Given the description of an element on the screen output the (x, y) to click on. 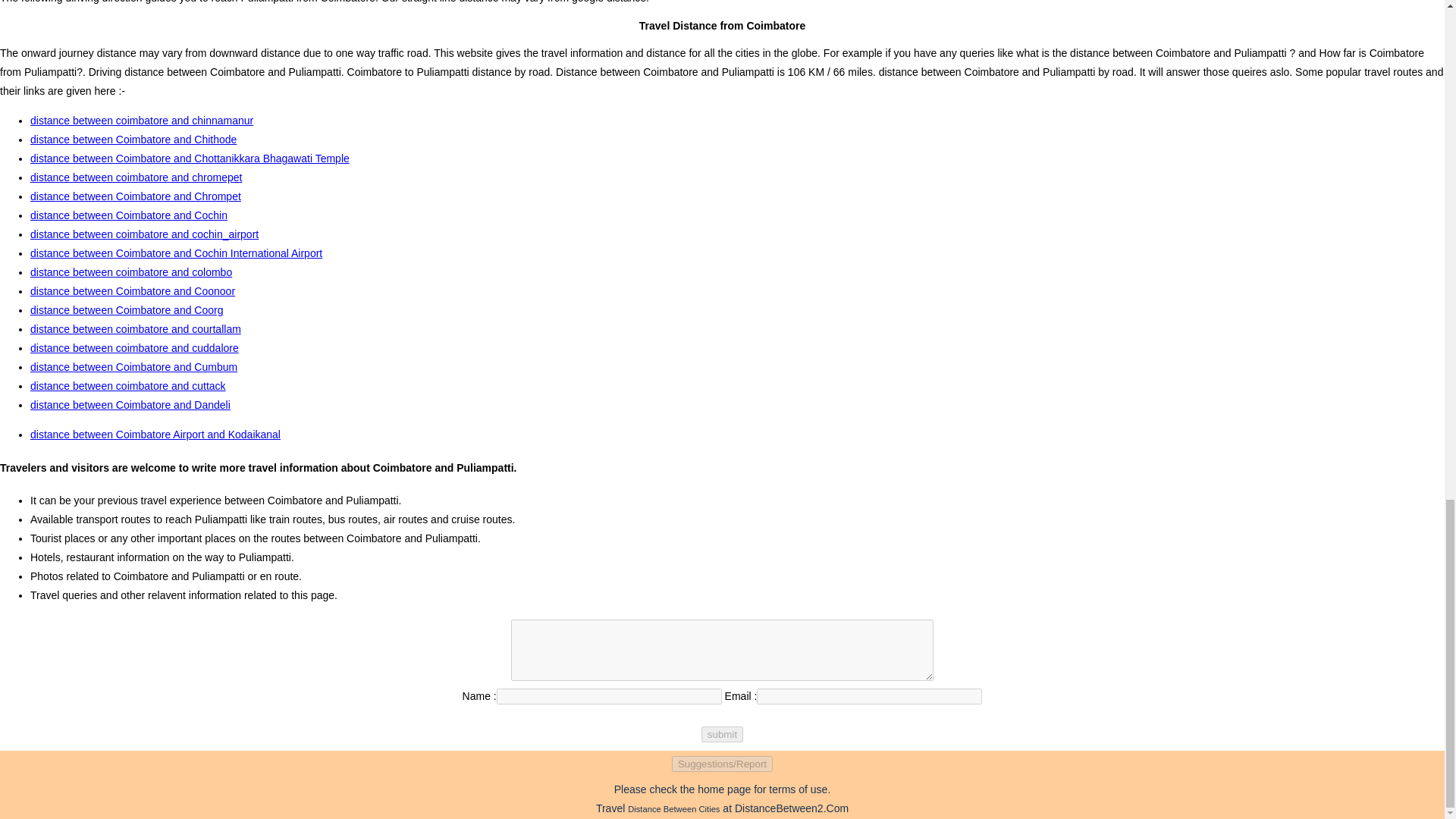
Distance Between Cities (673, 809)
distance between coimbatore and cuddalore (134, 347)
distance between coimbatore and colombo (130, 272)
distance between Coimbatore and Cumbum (133, 367)
distance between coimbatore and courtallam (135, 328)
distance between Coimbatore and Cochin International Airport (175, 253)
distance between coimbatore and cuttack (127, 386)
submit (721, 734)
distance between coimbatore and chinnamanur (141, 120)
distance between coimbatore and chromepet (135, 177)
distance between Coimbatore and Dandeli (130, 404)
distance between Coimbatore and Cochin (128, 215)
distance between Coimbatore and Chrompet (135, 196)
distance between Coimbatore and Chithode (132, 139)
